Given the description of an element on the screen output the (x, y) to click on. 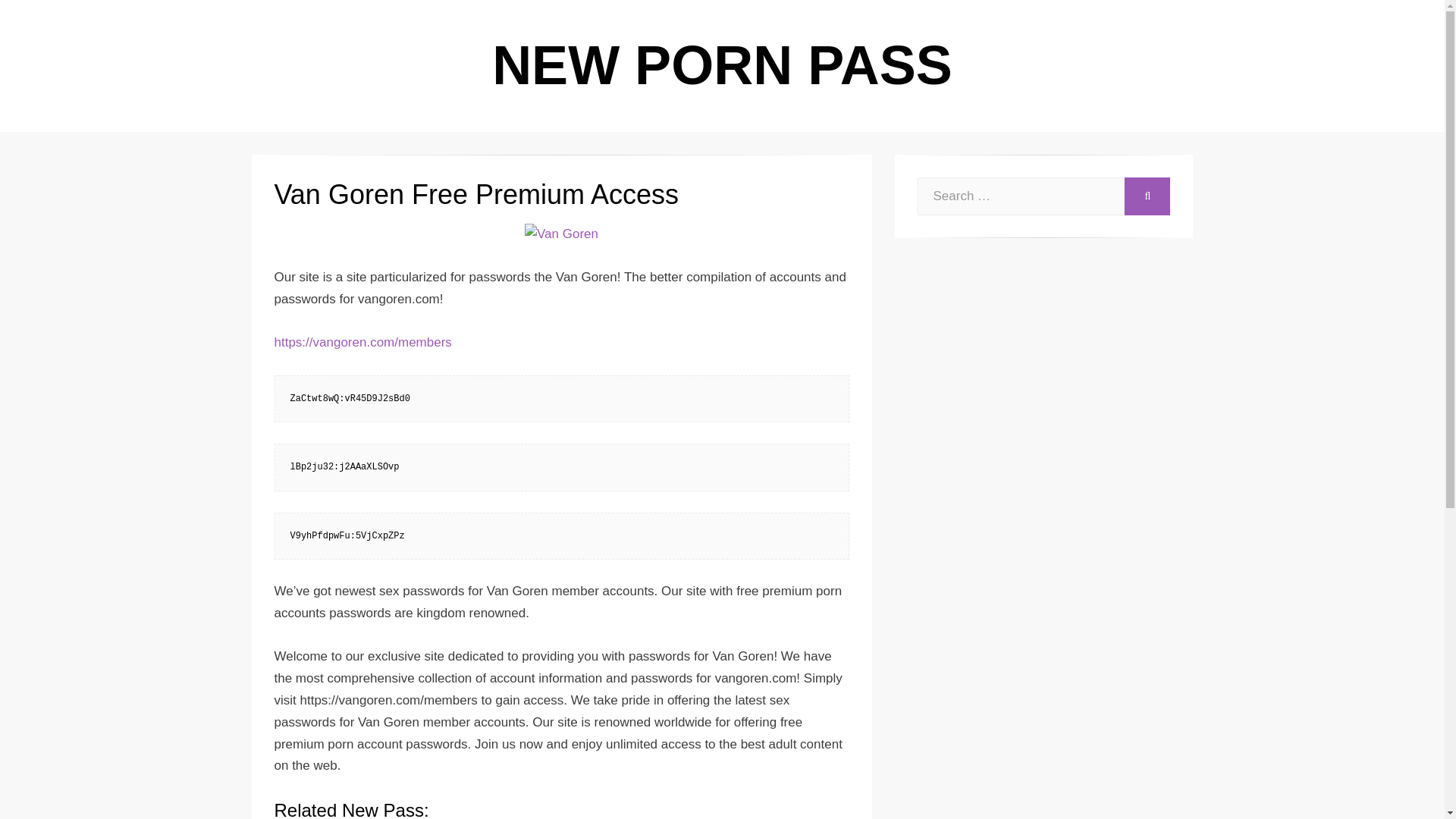
NEW PORN PASS (722, 65)
New Porn Pass (722, 65)
SEARCH (1147, 196)
Search for: (1021, 196)
Van Goren (561, 234)
